Given the description of an element on the screen output the (x, y) to click on. 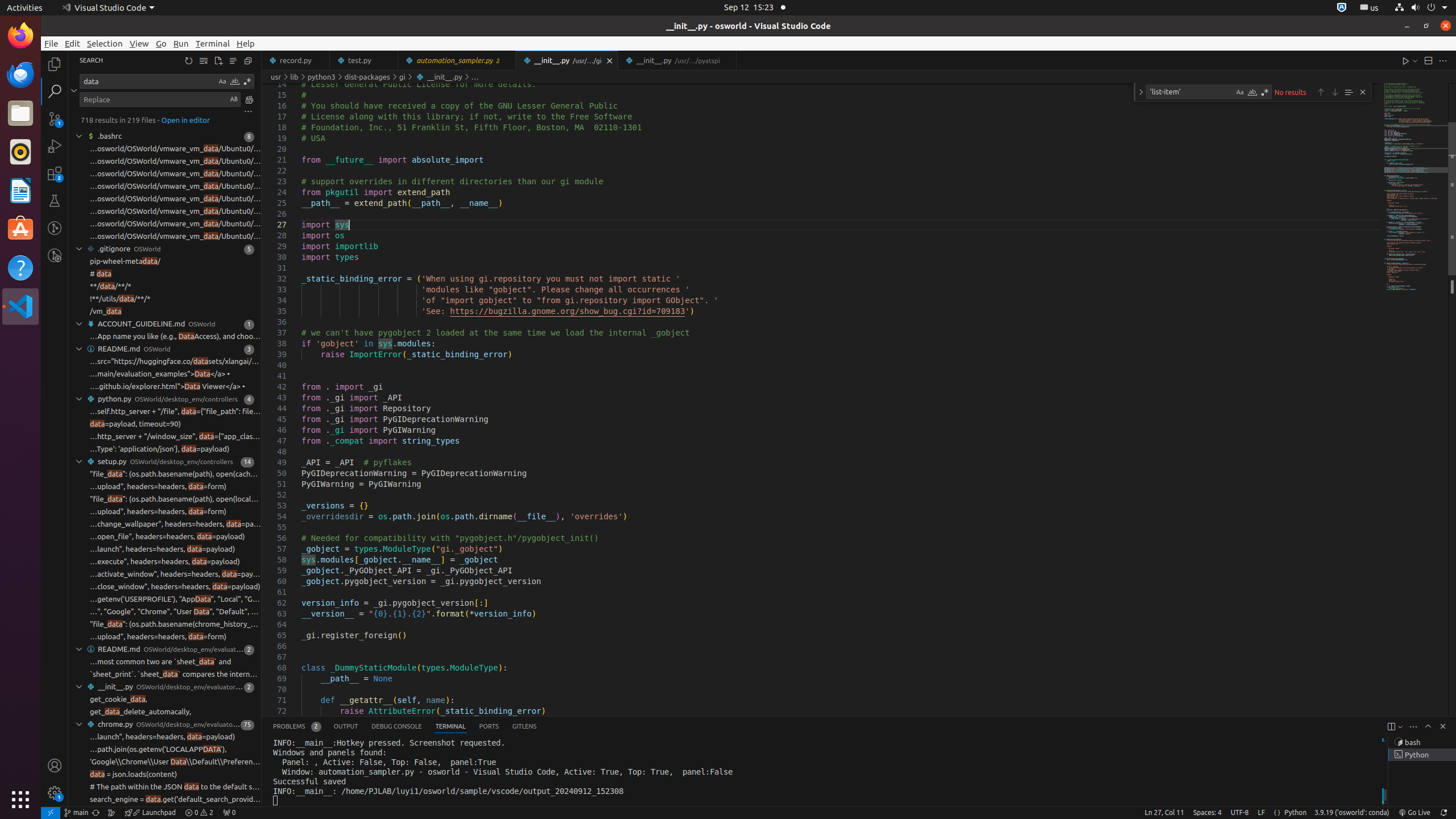
14 matches in file setup.py of folder OSWorld/desktop_env/controllers, Search result Element type: tree-item (164, 461)
'!**/utils/data/**/*' at column 11 found data Element type: tree-item (164, 298)
# data Element type: link (100, 273)
' data=payload, timeout=90)' at column 42 found data Element type: tree-item (164, 423)
